Given the description of an element on the screen output the (x, y) to click on. 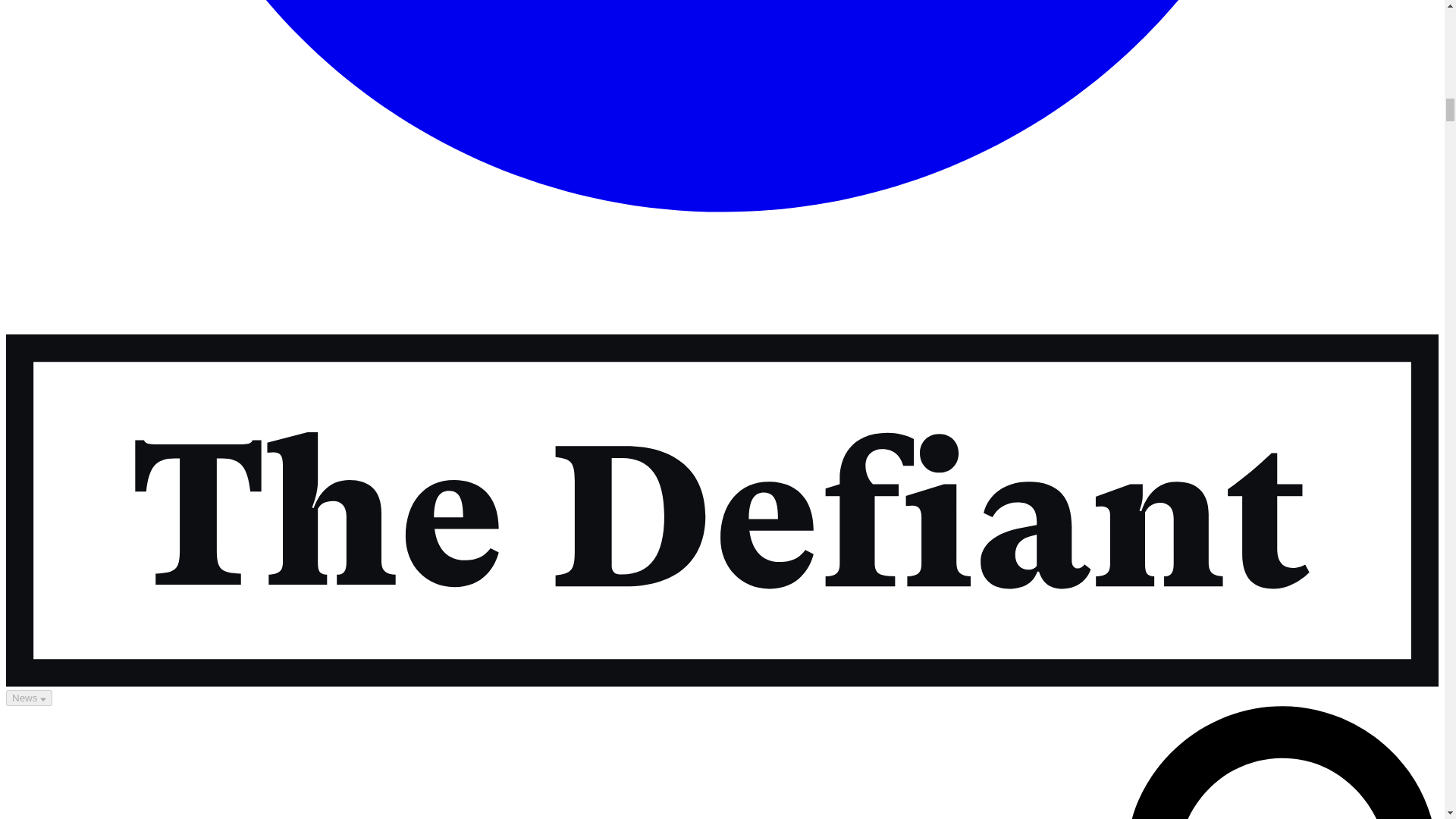
News (28, 697)
